Given the description of an element on the screen output the (x, y) to click on. 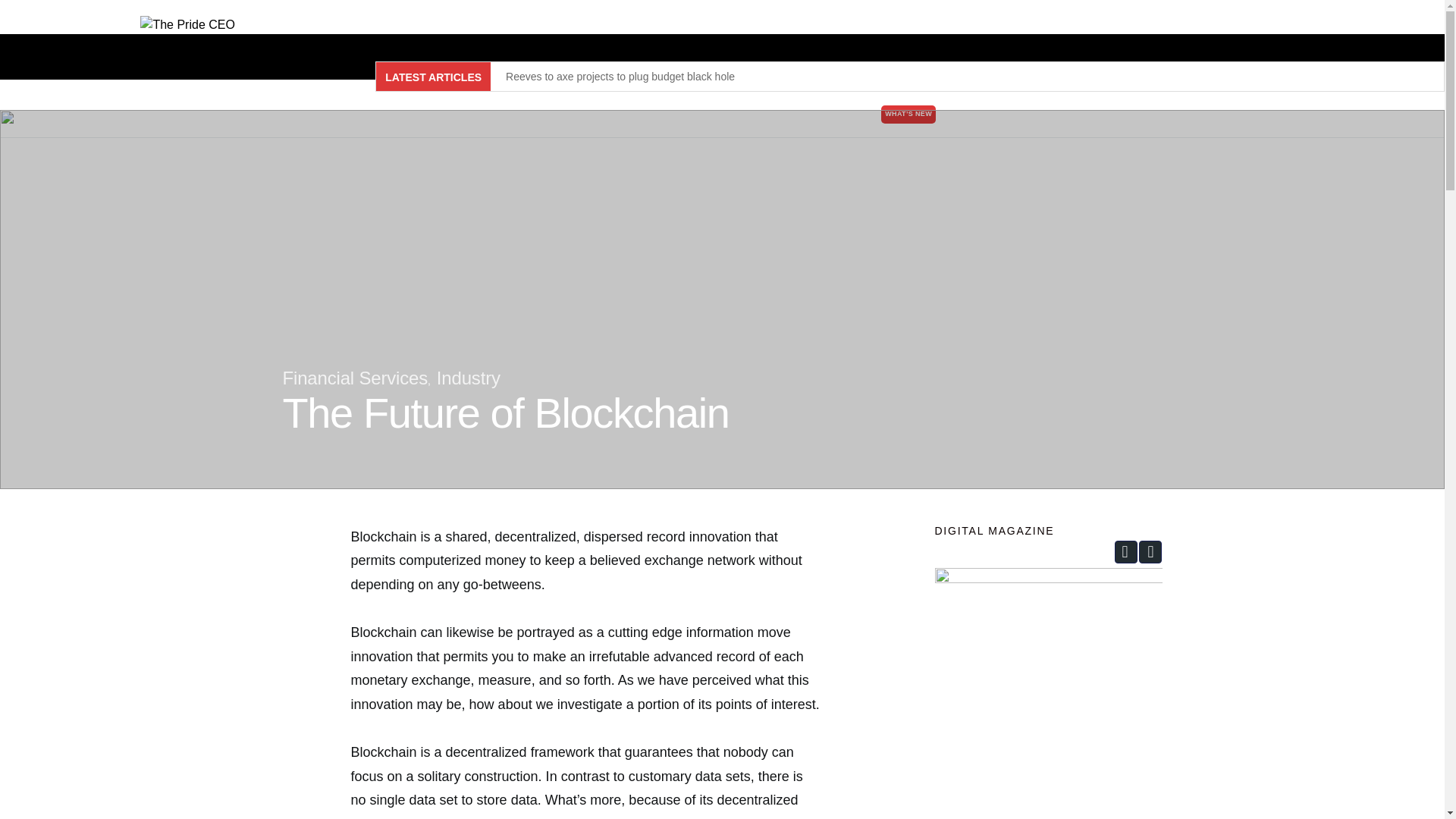
Reeves to axe projects to plug budget black hole (620, 76)
